Given the description of an element on the screen output the (x, y) to click on. 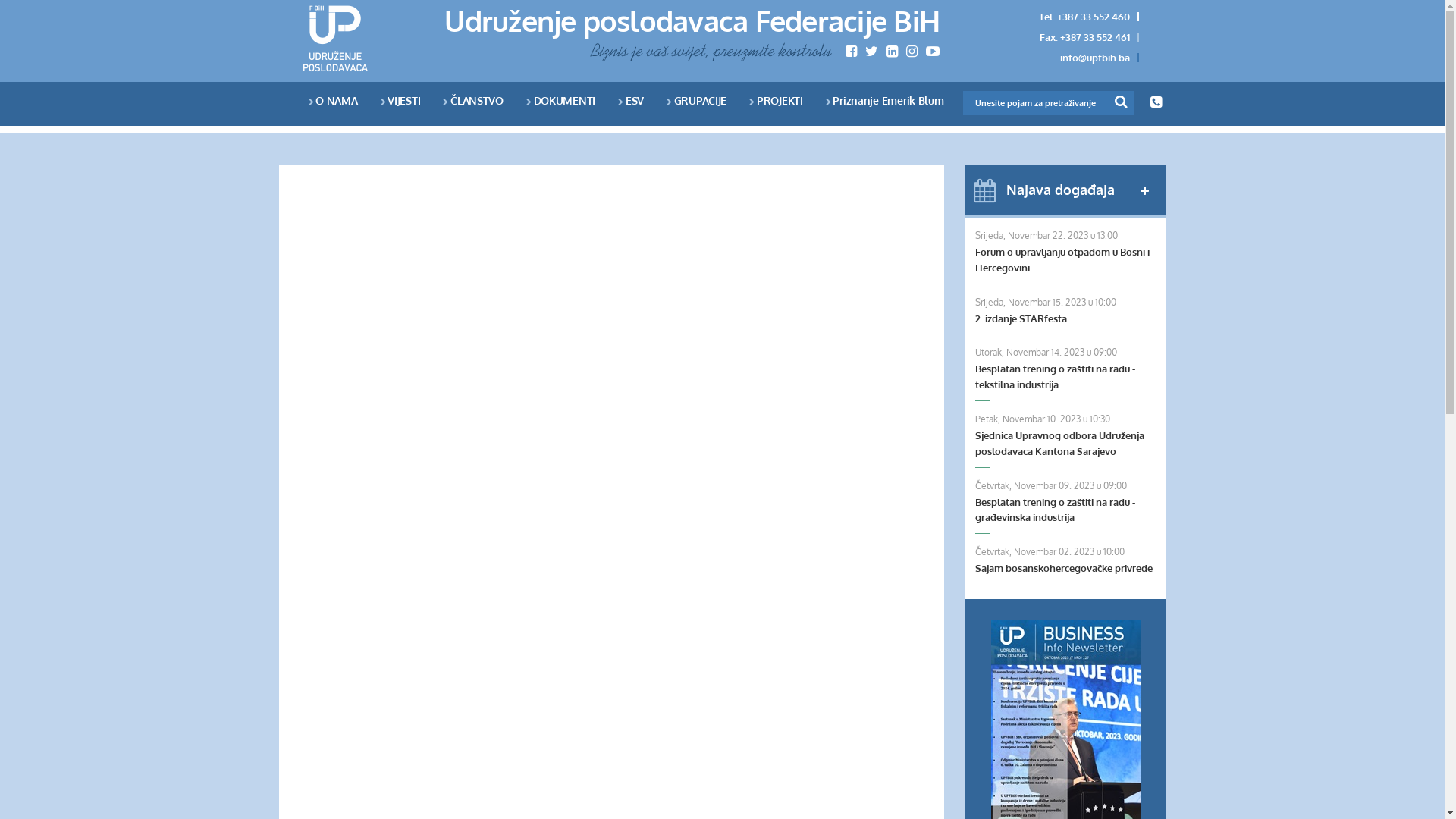
ESV Element type: text (630, 100)
DOKUMENTI Element type: text (560, 100)
Forum o upravljanju otpadom u Bosni i Hercegovini Element type: text (1065, 260)
info@upfbih.ba Element type: text (1094, 57)
PROJEKTI Element type: text (776, 100)
Sve najave Element type: hover (1144, 190)
2. izdanje STARfesta Element type: text (1065, 318)
Priznanje Emerik Blum Element type: text (884, 100)
VIJESTI Element type: text (400, 100)
O NAMA Element type: text (332, 100)
Newsletter broj 127 - Oktobar 2023.  - BIN Element type: hover (1065, 715)
